Given the description of an element on the screen output the (x, y) to click on. 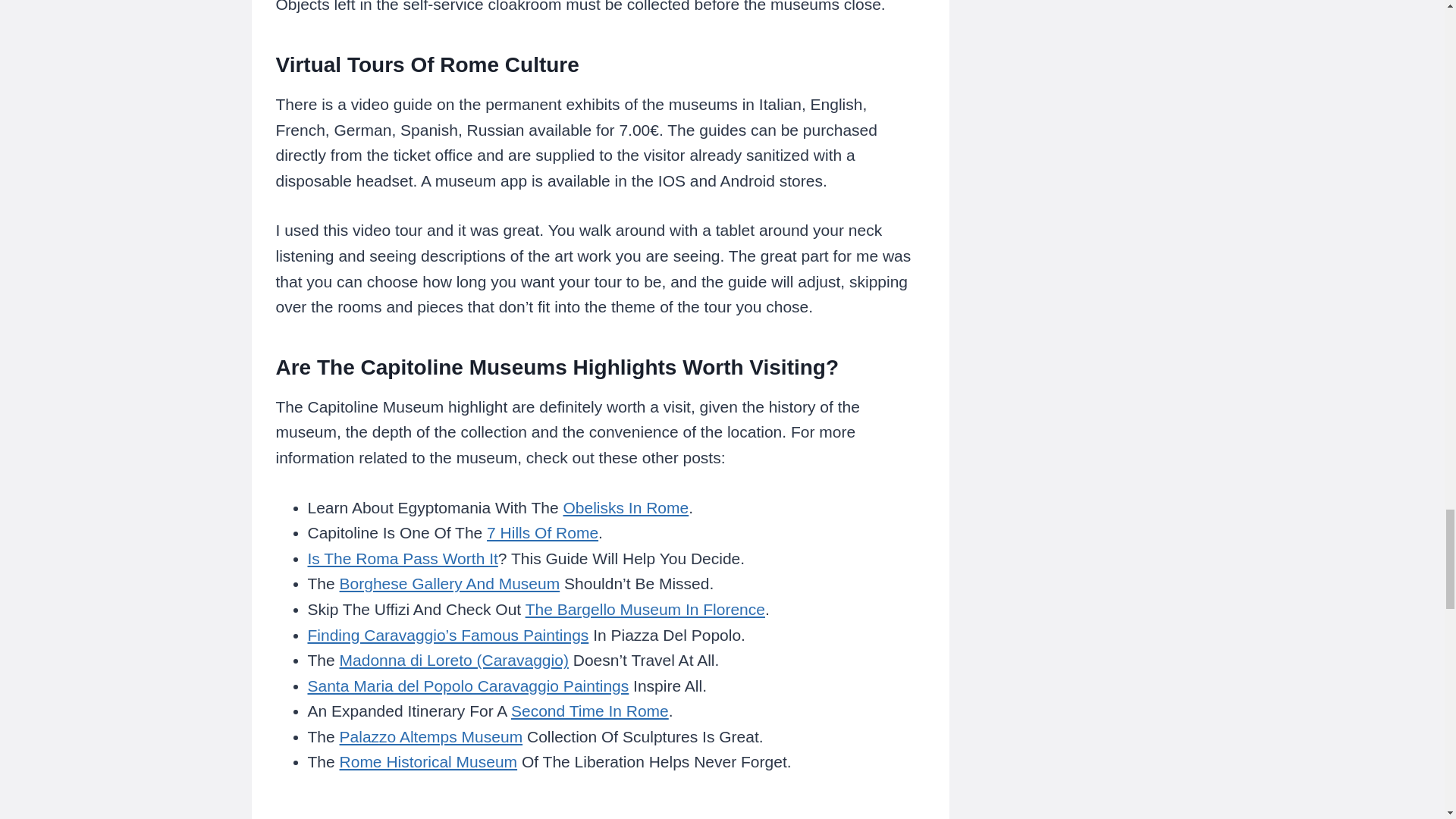
Obelisks In Rome (625, 507)
Borghese Gallery And Museum (449, 583)
Is The Roma Pass Worth It (402, 558)
The Bargello Museum In Florence (645, 609)
7 Hills Of Rome (542, 532)
